Given the description of an element on the screen output the (x, y) to click on. 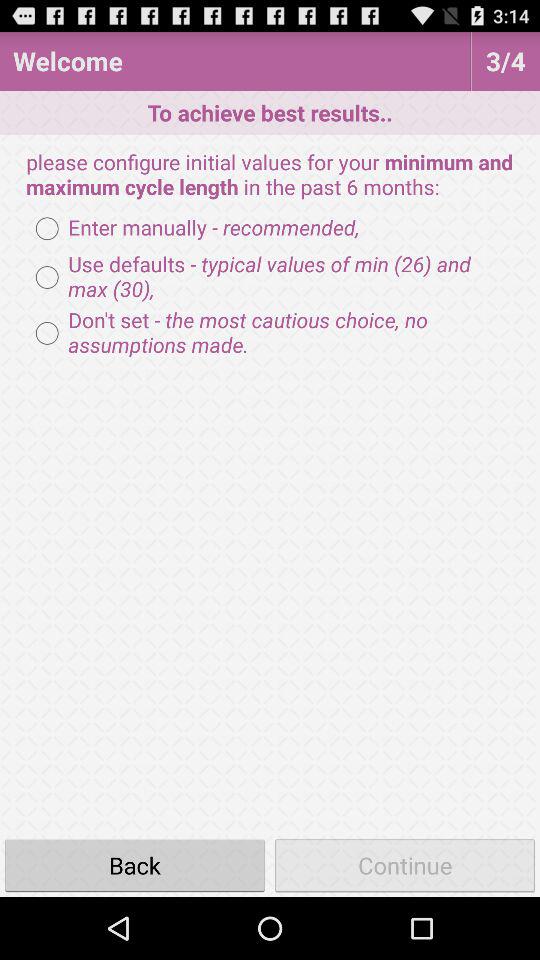
swipe to the don t set item (269, 333)
